Given the description of an element on the screen output the (x, y) to click on. 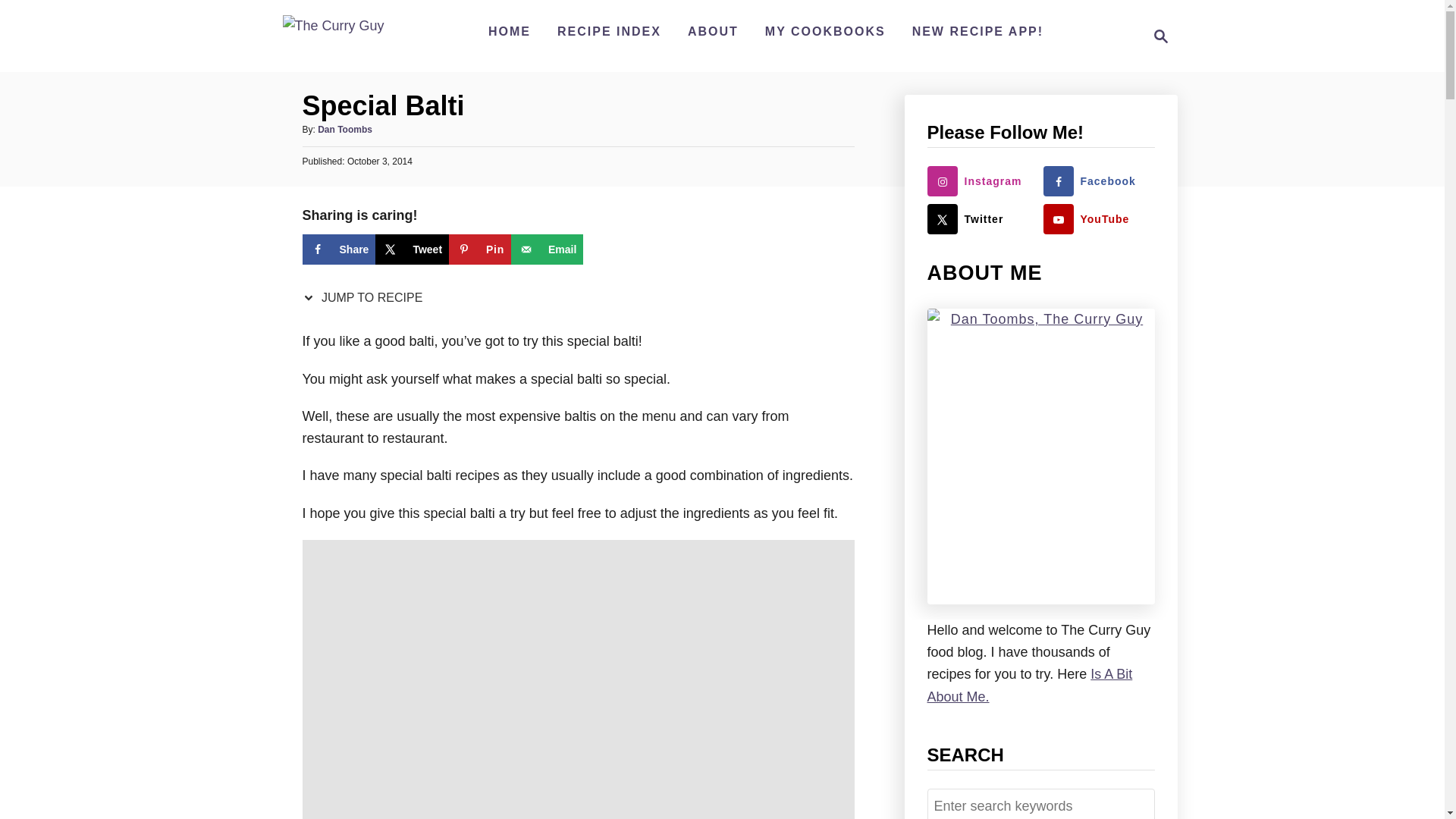
The Curry Guy (333, 35)
Follow on YouTube (1098, 218)
NEW RECIPE APP! (977, 31)
Dan Toombs (344, 129)
Magnifying Glass (1160, 36)
RECIPE INDEX (609, 31)
HOME (509, 31)
Search for: (1040, 803)
Save to Pinterest (479, 249)
Follow on X (982, 218)
